Given the description of an element on the screen output the (x, y) to click on. 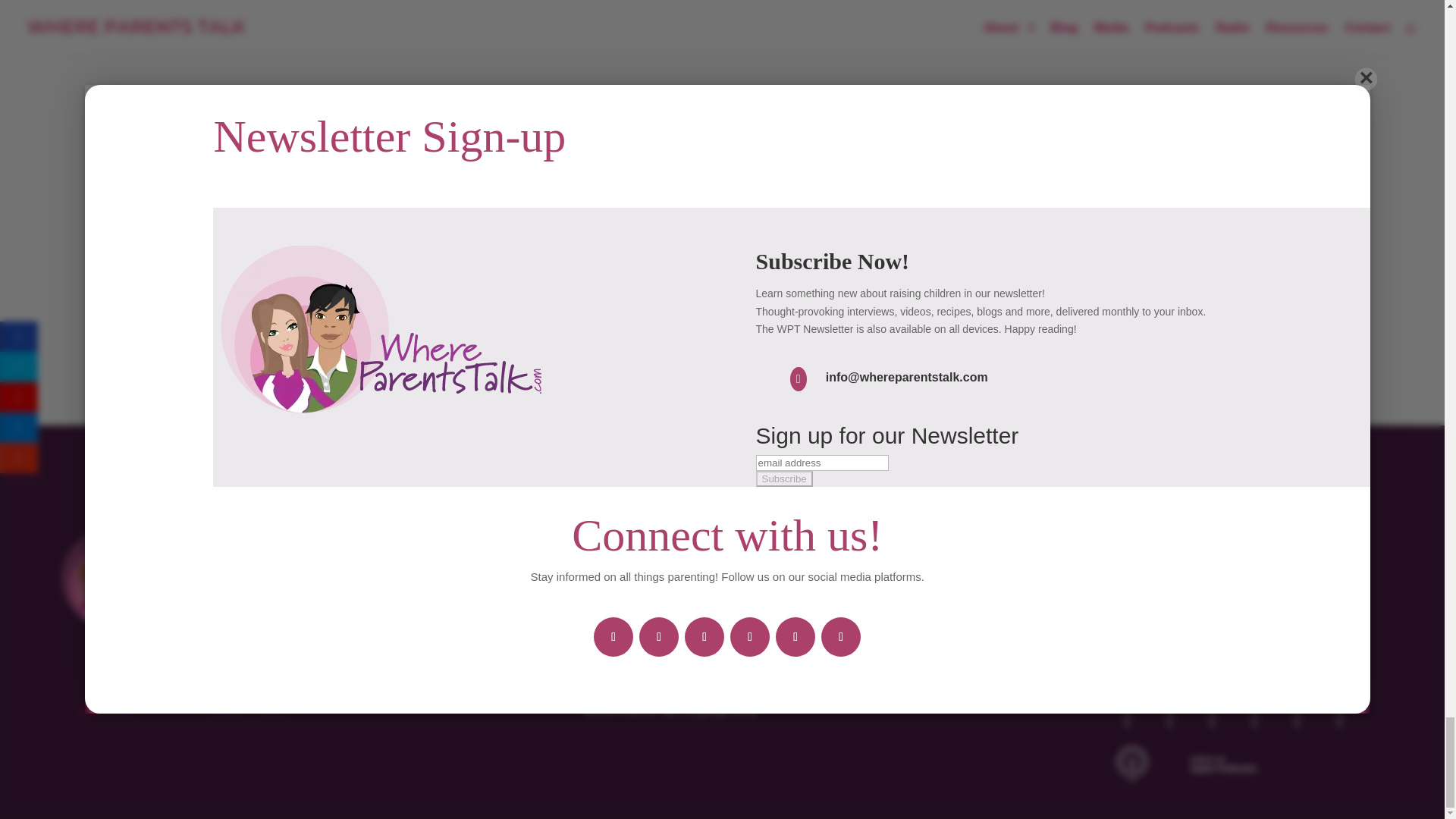
Follow on Youtube (1211, 719)
Follow on LinkedIn (1254, 719)
Follow on Pinterest (1340, 719)
Follow on Facebook (1127, 719)
Follow on Instagram (1297, 719)
Follow on X (1169, 719)
Subscribe (1130, 598)
